Given the description of an element on the screen output the (x, y) to click on. 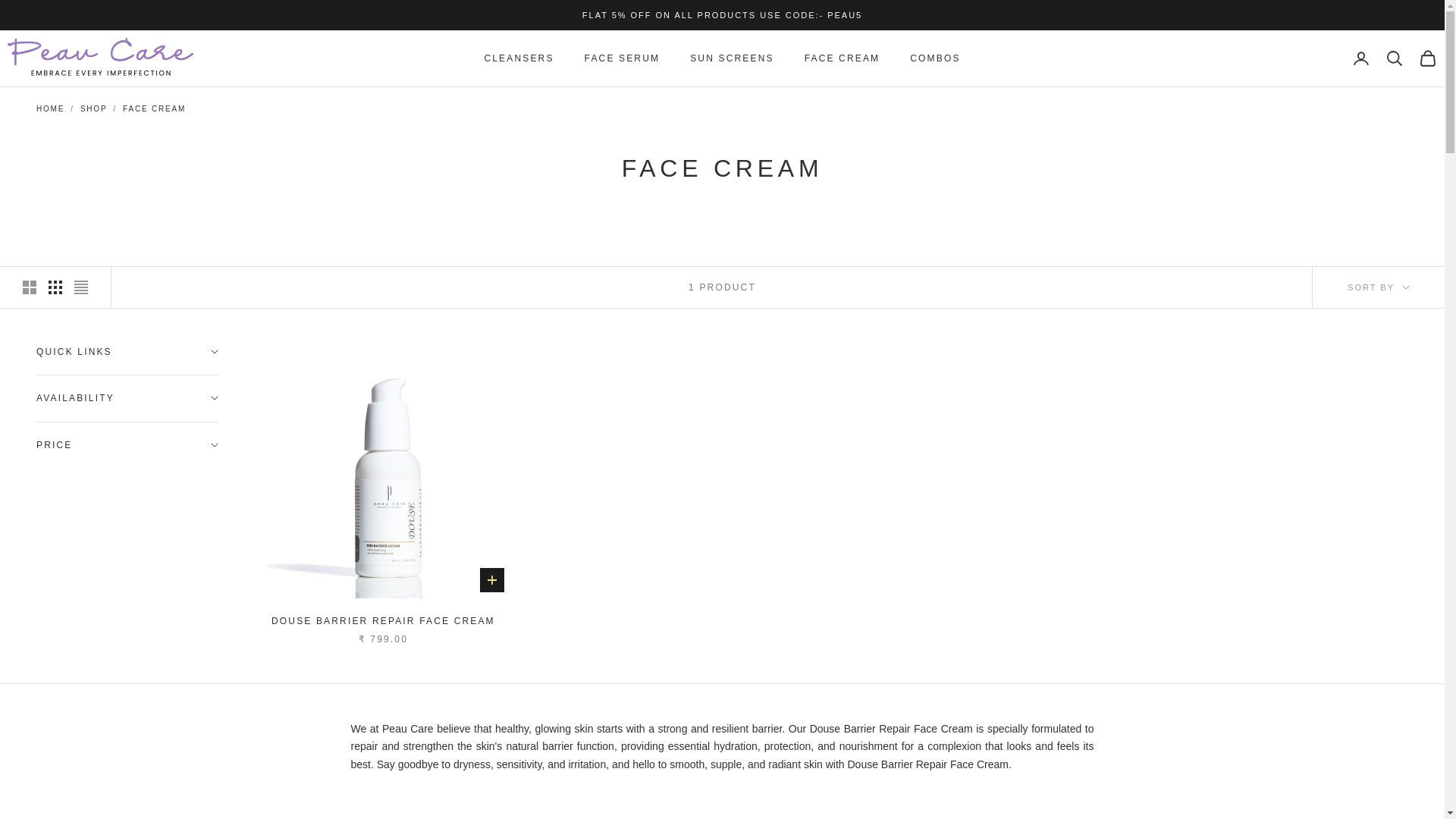
Open search (1394, 58)
Peau Care (100, 58)
SHOP (93, 108)
FACE CREAM (154, 108)
HOME (50, 108)
Open cart (1427, 58)
Open account page (1361, 58)
